Given the description of an element on the screen output the (x, y) to click on. 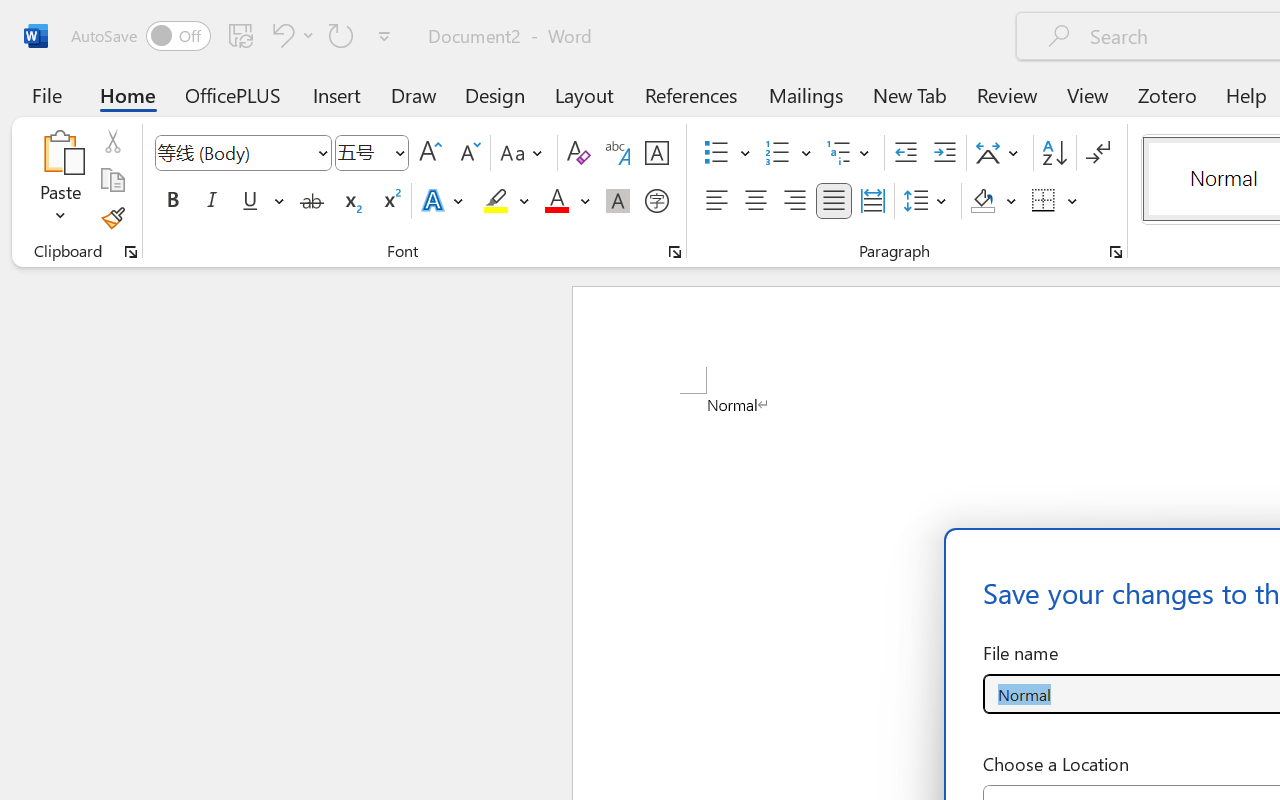
AutoSave (140, 35)
Asian Layout (1000, 153)
